Given the description of an element on the screen output the (x, y) to click on. 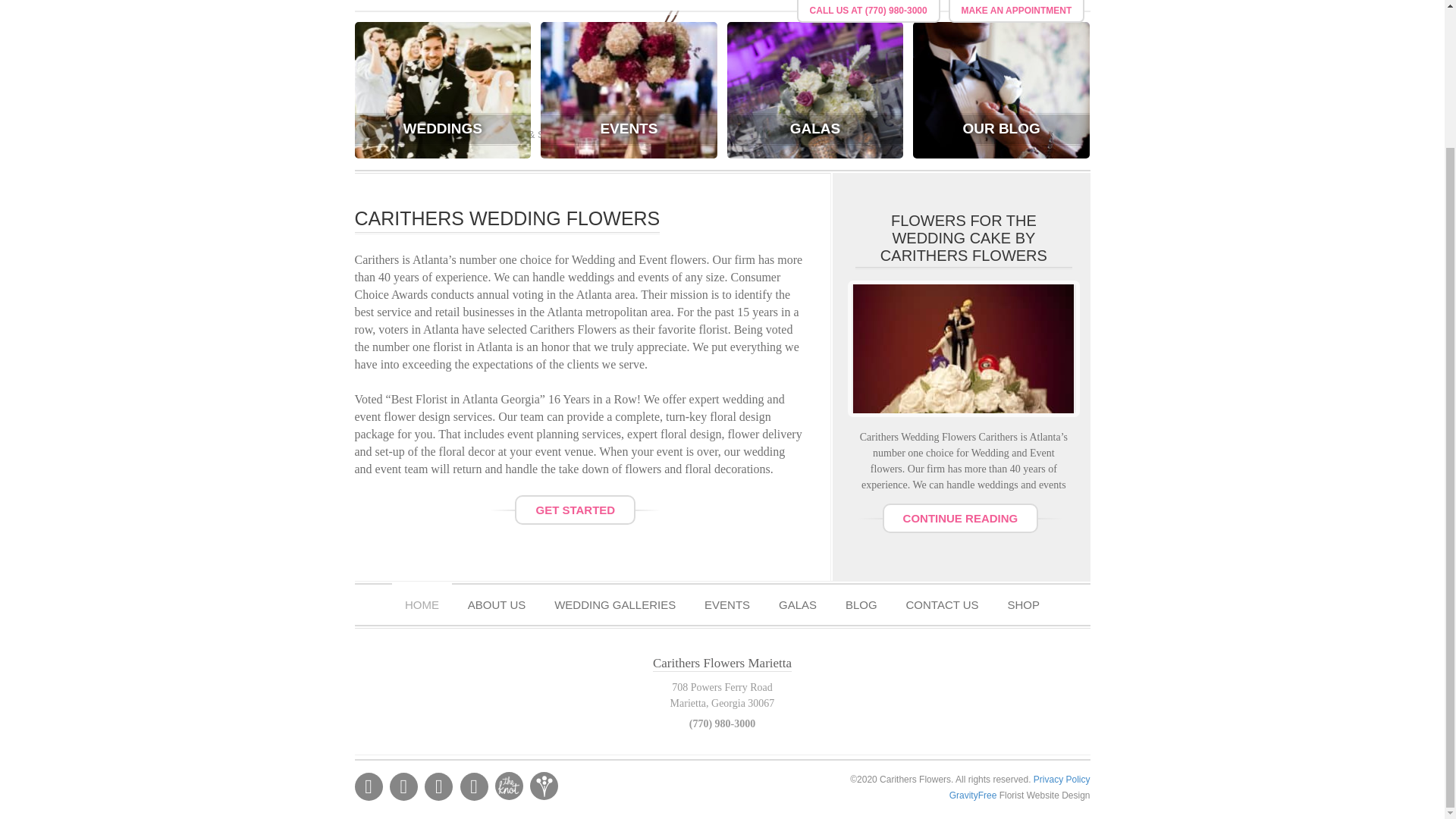
CONTACT US (942, 5)
EVENTS (726, 5)
Carithers Wedding Flowers (722, 63)
WEDDING GALLERIES (614, 5)
ABOUT US (496, 600)
Flowers For The Wedding Cake by Carithers Flowers (963, 348)
FLOWERS FOR THE WEDDING CAKE BY CARITHERS FLOWERS (963, 237)
GET STARTED (574, 509)
WEDDING GALLERIES (614, 600)
BLOG (860, 600)
